Given the description of an element on the screen output the (x, y) to click on. 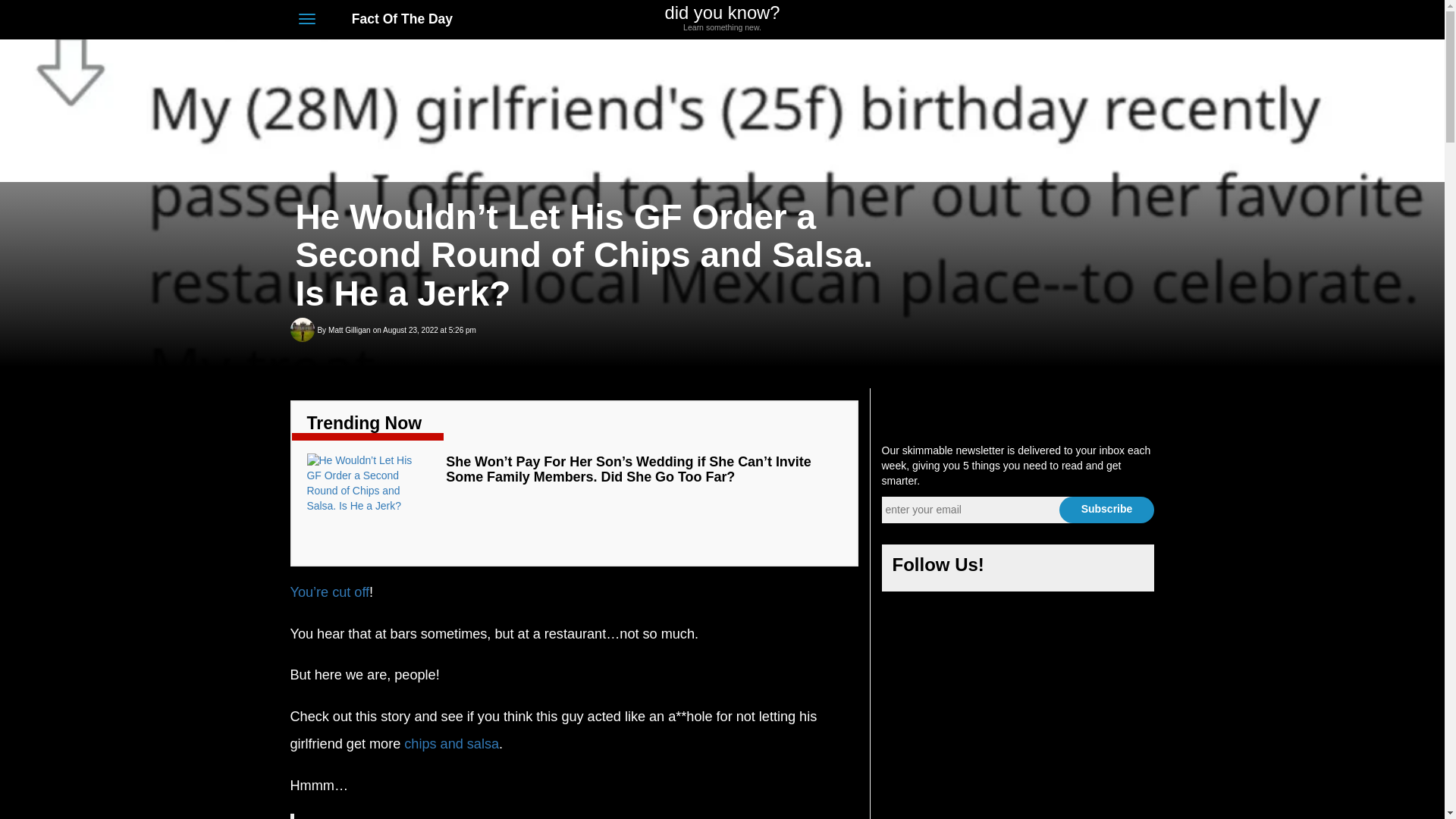
Tumblr (1127, 569)
Twitter (1054, 569)
Instagram (1091, 569)
Facebook (1034, 20)
chips and salsa (451, 743)
Twitter (1063, 20)
Toggle navigation (306, 18)
Instagram (1091, 20)
Posts by Matt Gilligan (349, 330)
Tumblr (1119, 20)
Facebook (1018, 569)
Subscribe (1106, 509)
Fact Of The Day (393, 18)
Matt Gilligan (349, 330)
